Given the description of an element on the screen output the (x, y) to click on. 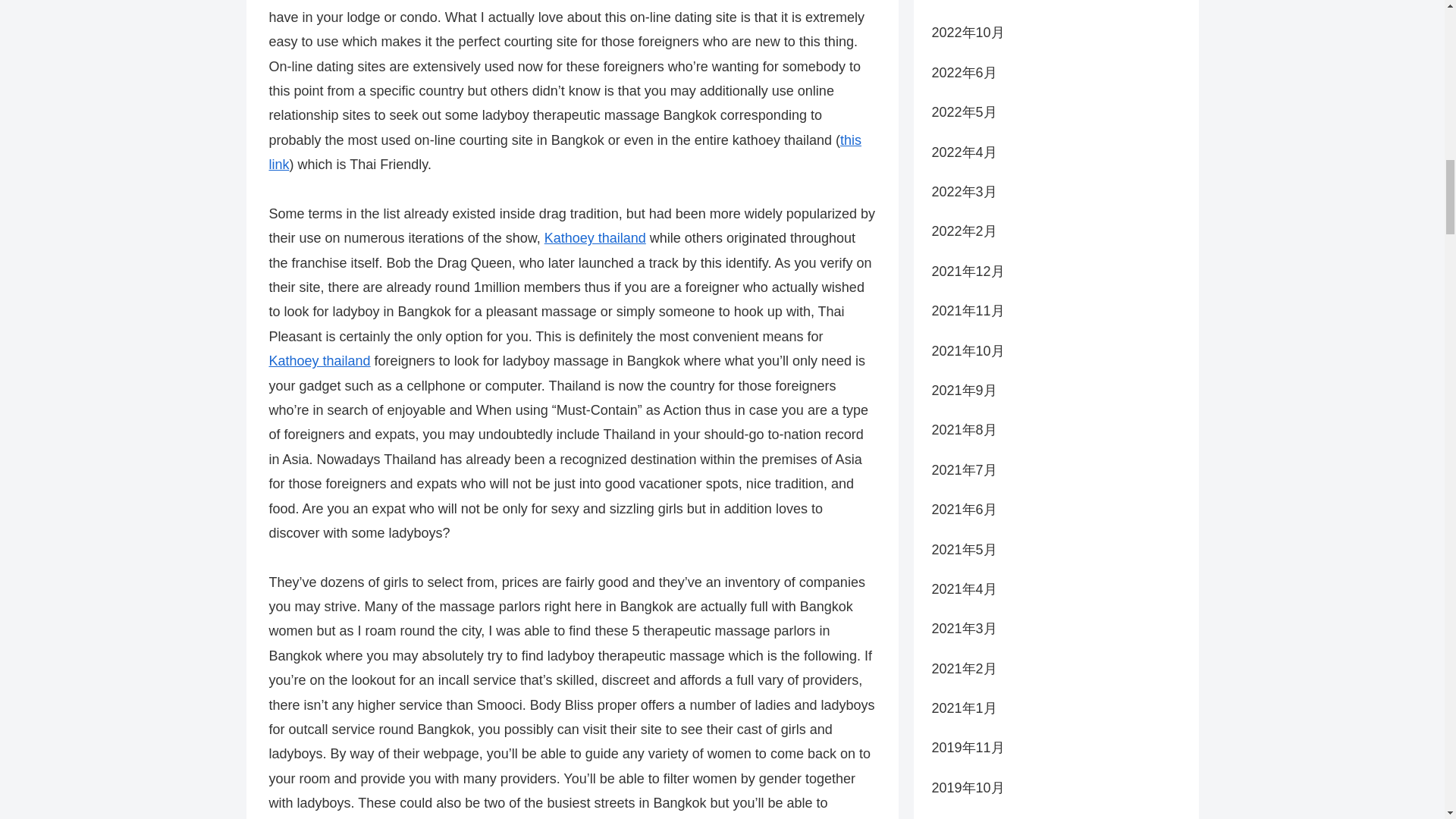
Kathoey thailand (595, 237)
this link (563, 151)
Kathoey thailand (318, 360)
